Given the description of an element on the screen output the (x, y) to click on. 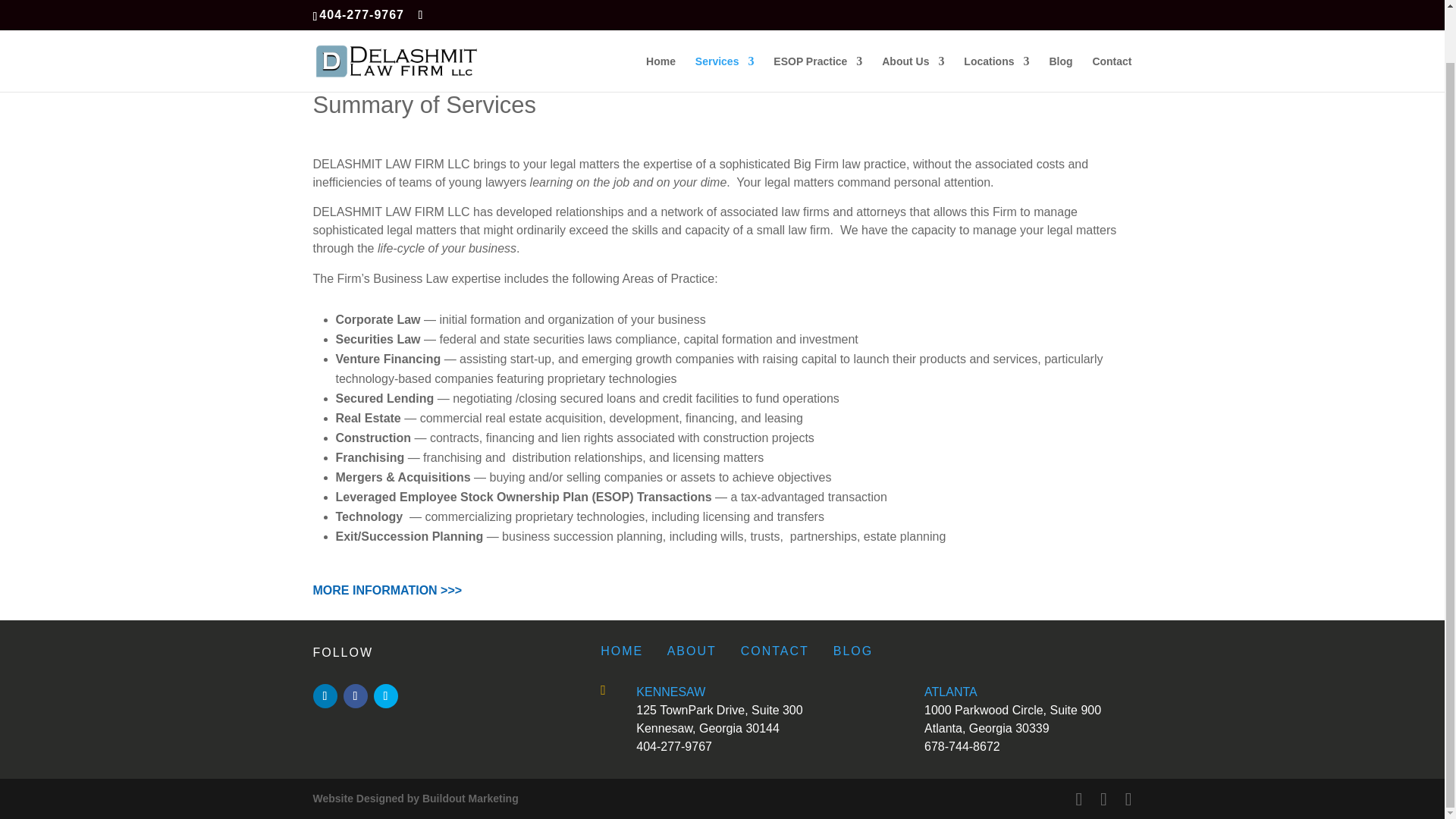
Contact (1111, 17)
ESOP Practice (817, 17)
Services (724, 17)
ABOUT (691, 650)
Premium WordPress Themes (415, 798)
Facebook (354, 695)
HOME (621, 650)
About Us (912, 17)
Twitter (384, 695)
Locations (996, 17)
